Given the description of an element on the screen output the (x, y) to click on. 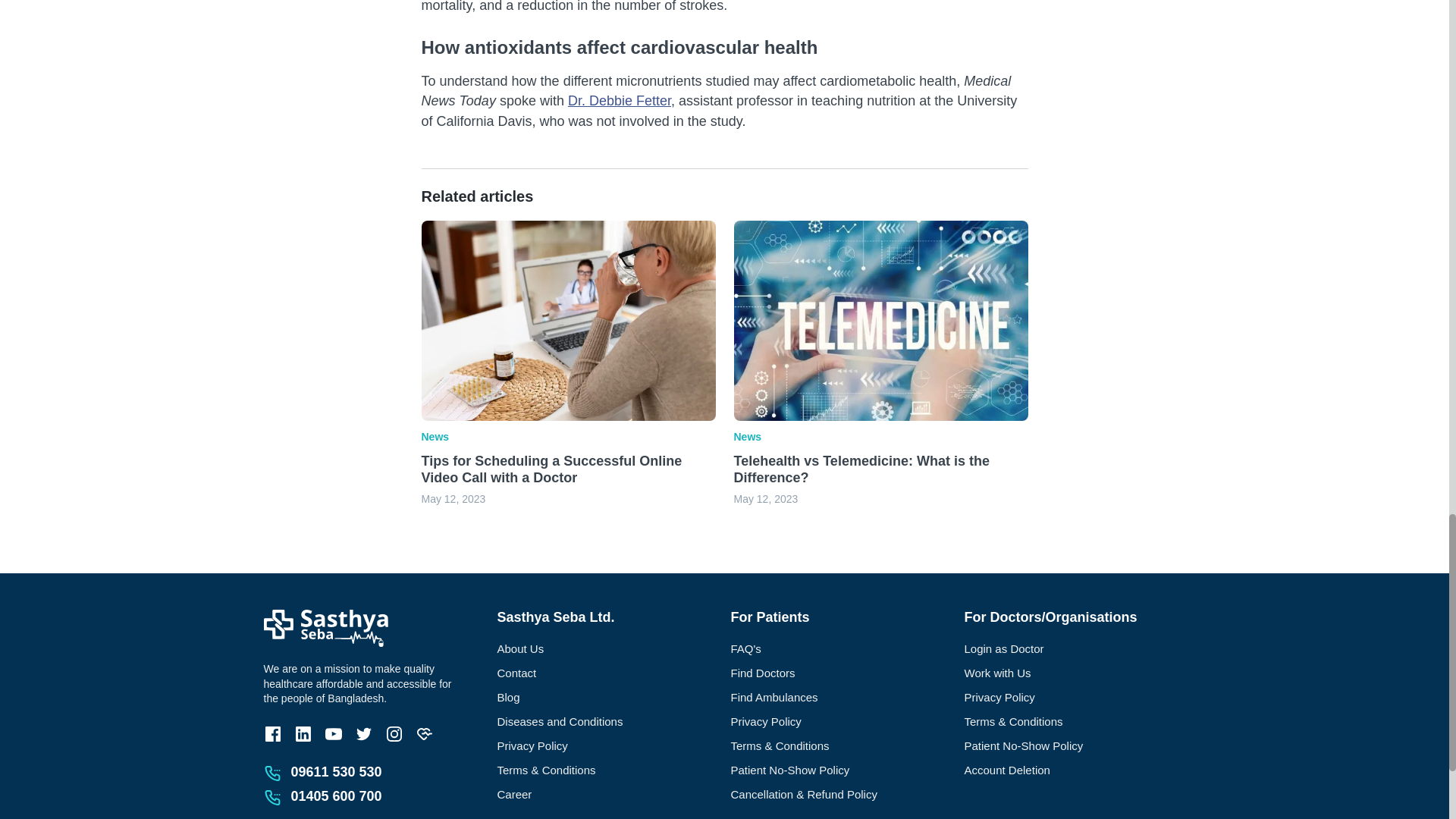
01405 600 700 (336, 795)
Dr. Debbie Fetter (619, 100)
Facebook Page (272, 732)
About Us (608, 648)
Youtube Channel (333, 732)
Status Page (423, 732)
09611 530 530 (336, 771)
Twitter Page (363, 732)
Linkedin Page (303, 732)
Instagram Page (394, 732)
Home (325, 626)
